Given the description of an element on the screen output the (x, y) to click on. 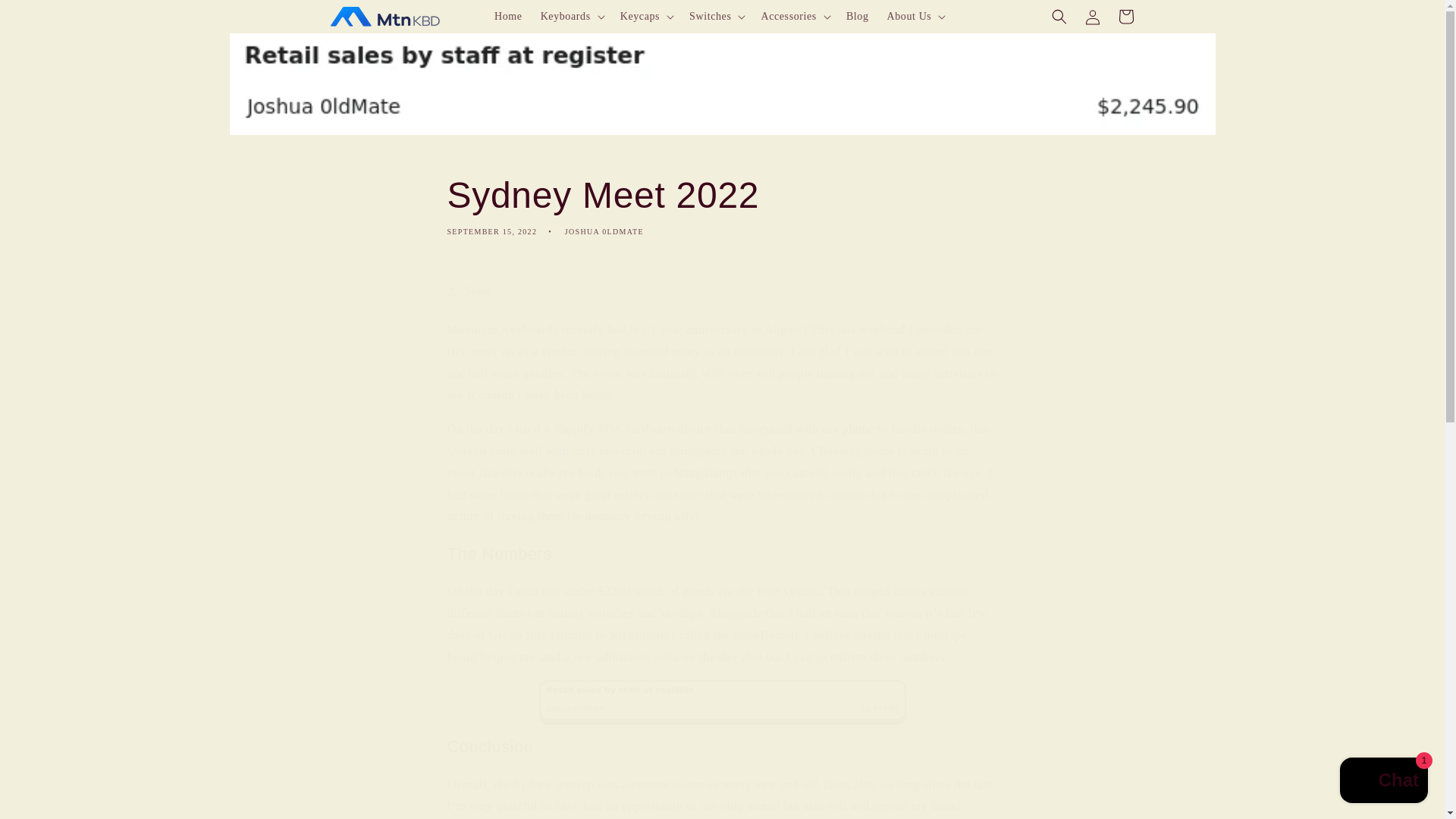
Home (507, 16)
Share (721, 290)
Shopify online store chat (1383, 781)
Skip to content (721, 204)
